Given the description of an element on the screen output the (x, y) to click on. 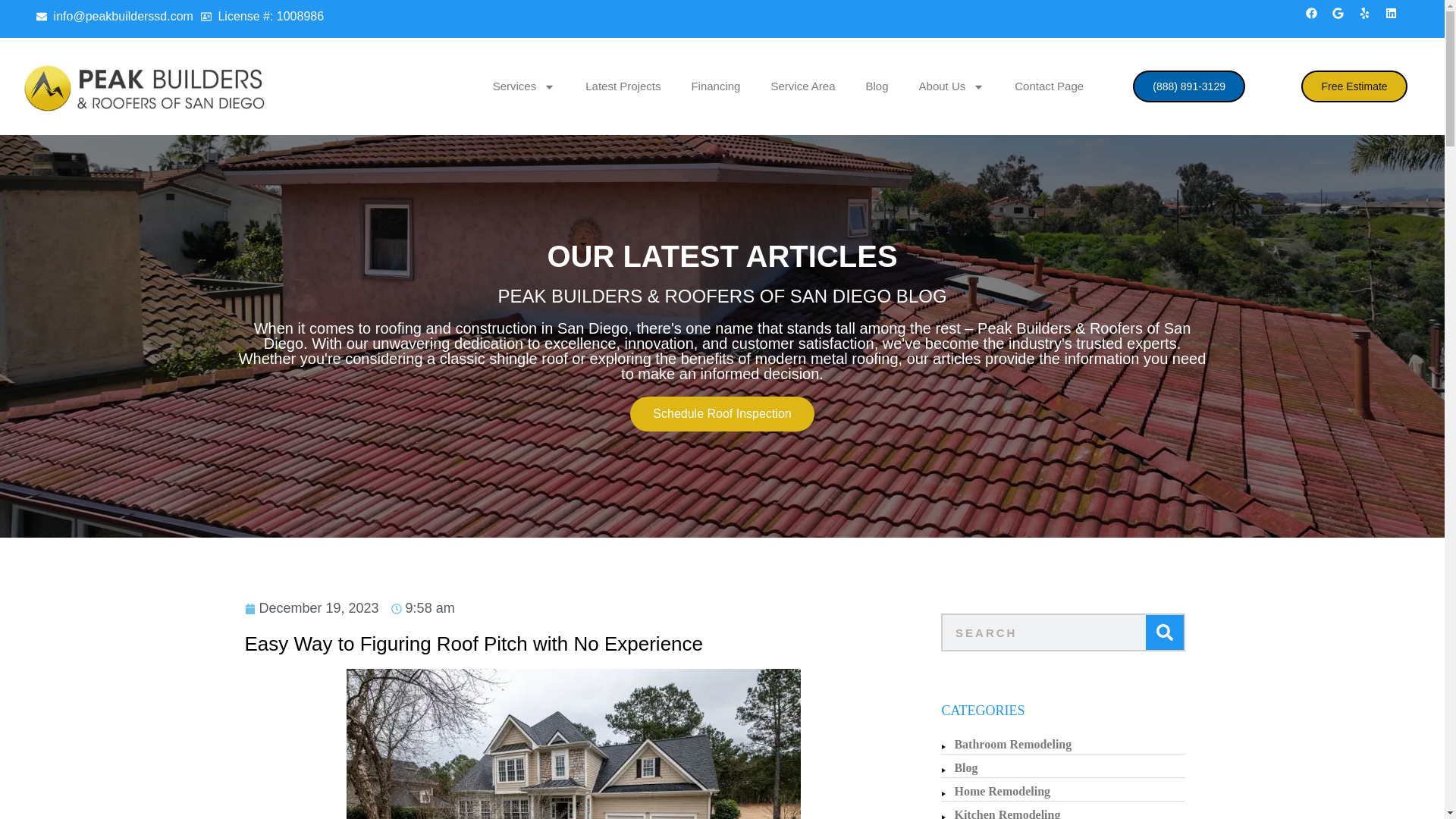
Contact Page (1048, 86)
Financing (715, 86)
Service Area (802, 86)
About Us (952, 86)
Latest Projects (622, 86)
Services (523, 86)
Blog (877, 86)
